Given the description of an element on the screen output the (x, y) to click on. 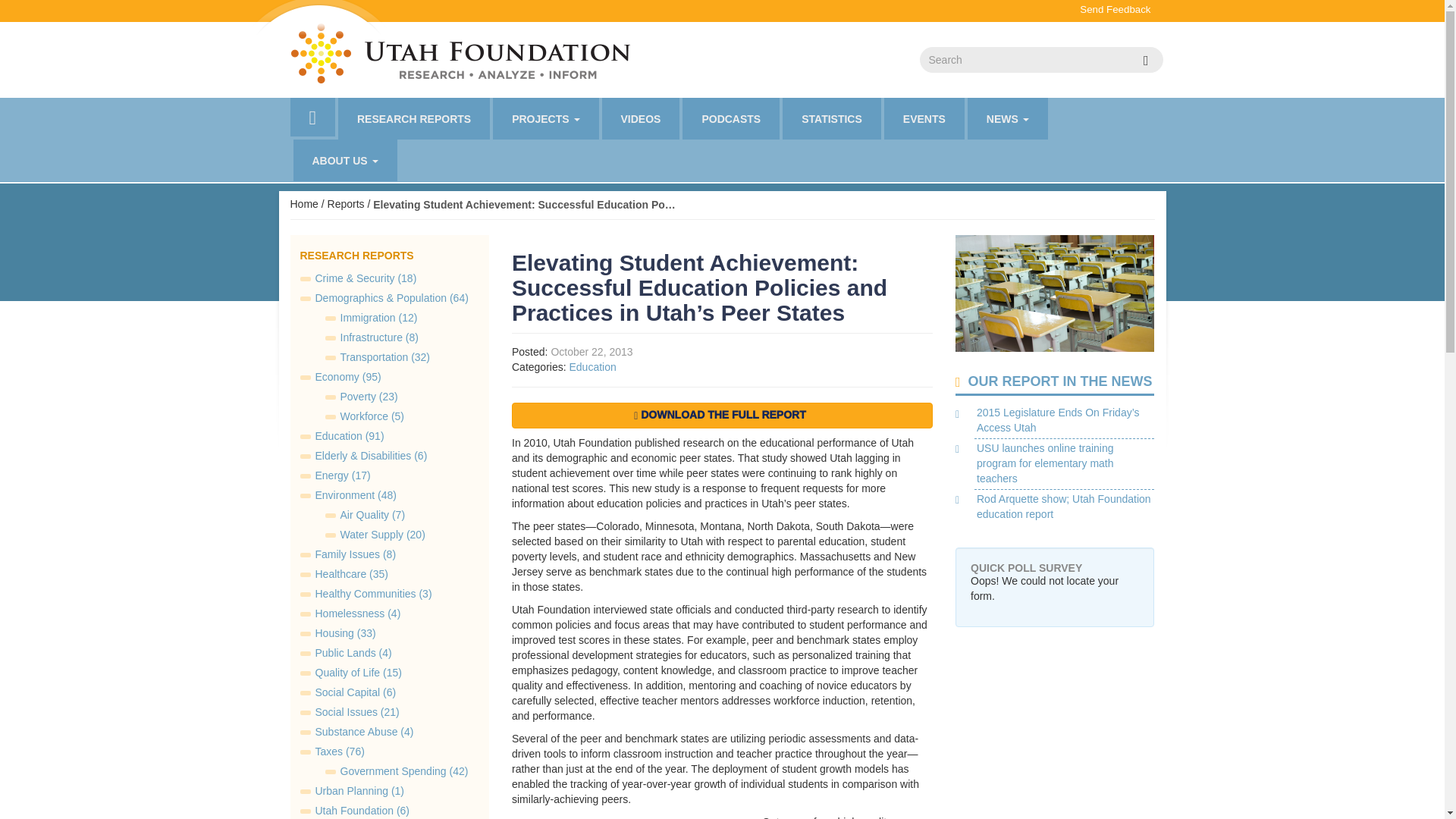
ABOUT US (344, 159)
RESEARCH REPORTS (413, 118)
EVENTS (923, 118)
PODCASTS (730, 118)
Rod Arquette show; Utah Foundation education report (1064, 506)
PROJECTS (545, 118)
NEWS (1008, 118)
Home (303, 203)
fig20 (625, 816)
Education (592, 367)
HOME (311, 116)
Reports (346, 203)
VIDEOS (640, 118)
Send Feedback (1115, 9)
